Given the description of an element on the screen output the (x, y) to click on. 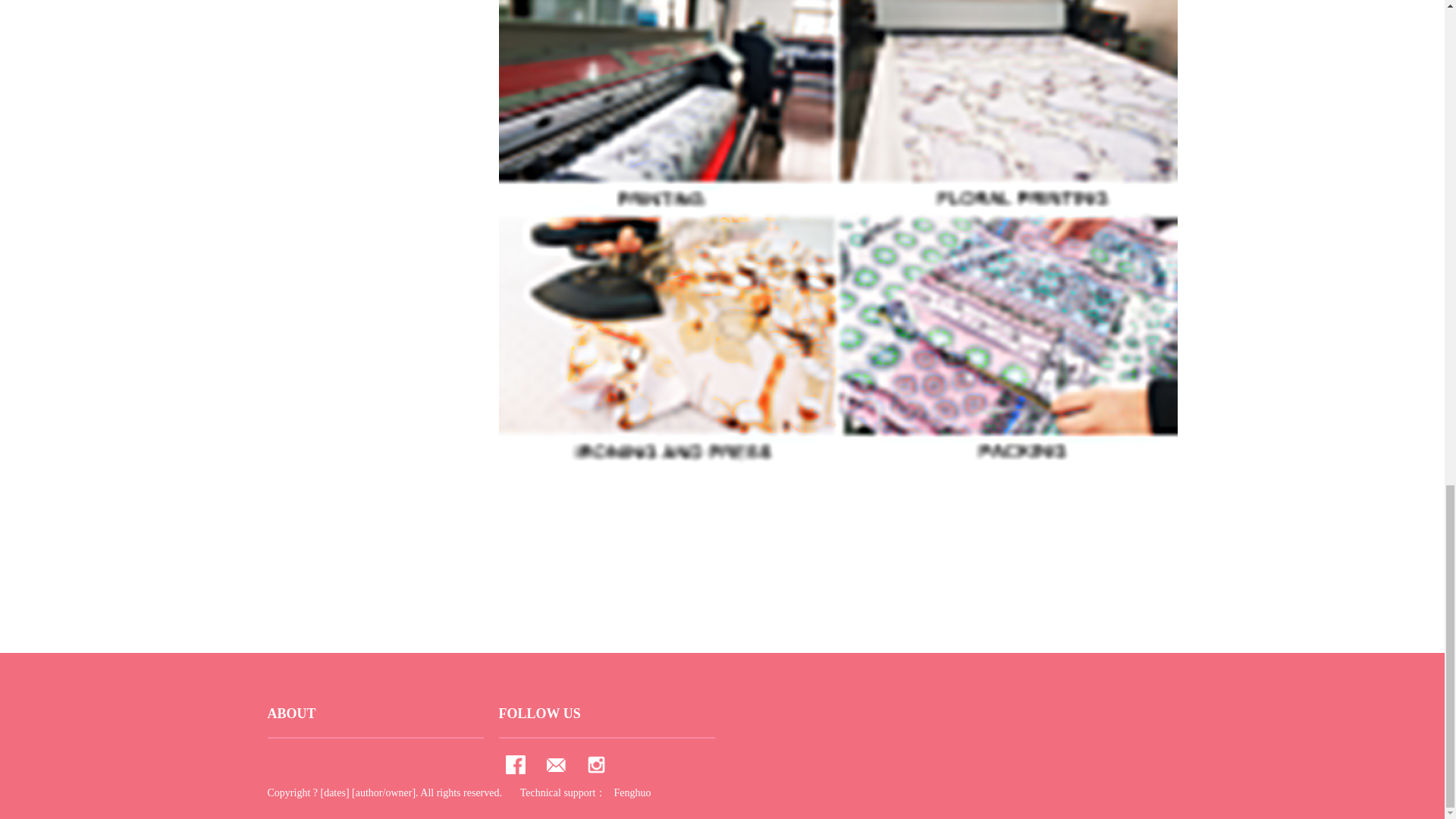
Fenghuo (631, 792)
